Given the description of an element on the screen output the (x, y) to click on. 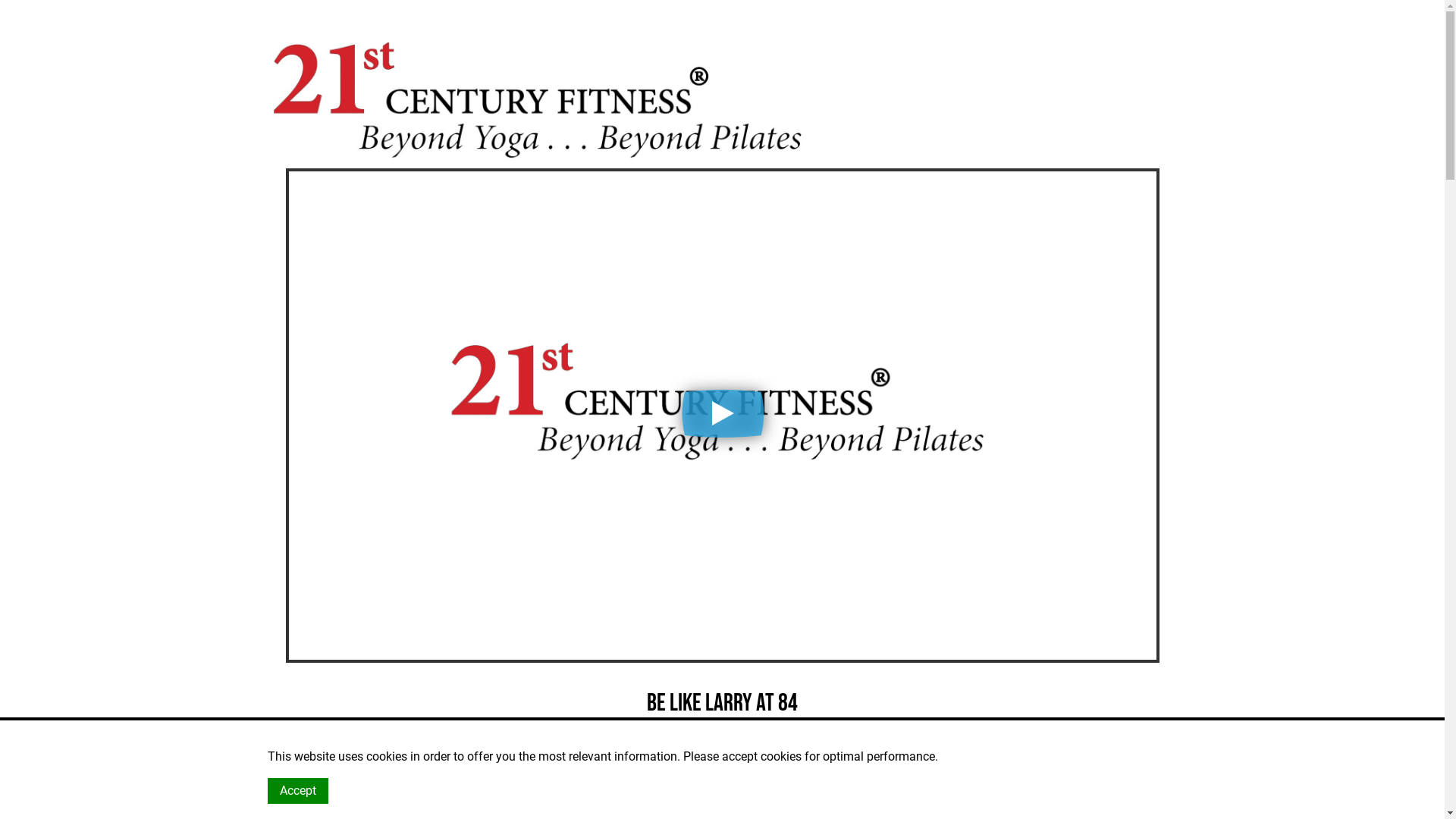
Accept Element type: text (296, 790)
